Given the description of an element on the screen output the (x, y) to click on. 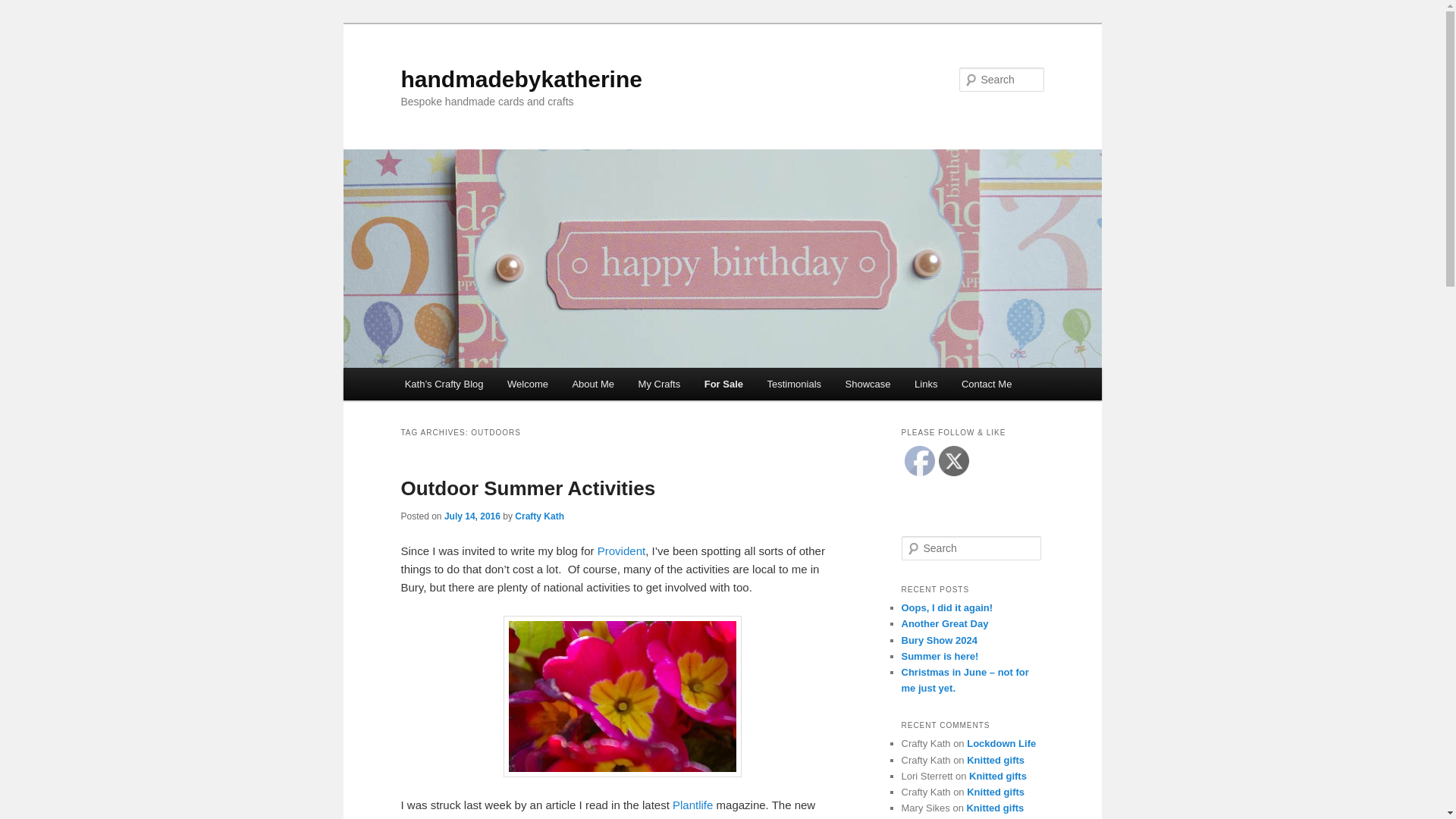
Crafty Kath (539, 516)
Contact Me (986, 383)
Testimonials (793, 383)
For Sale (724, 383)
About Me (593, 383)
Outdoor Summer Activities (527, 487)
handmadebykatherine (521, 78)
Search (24, 8)
Facebook (919, 460)
Twitter (954, 460)
